Given the description of an element on the screen output the (x, y) to click on. 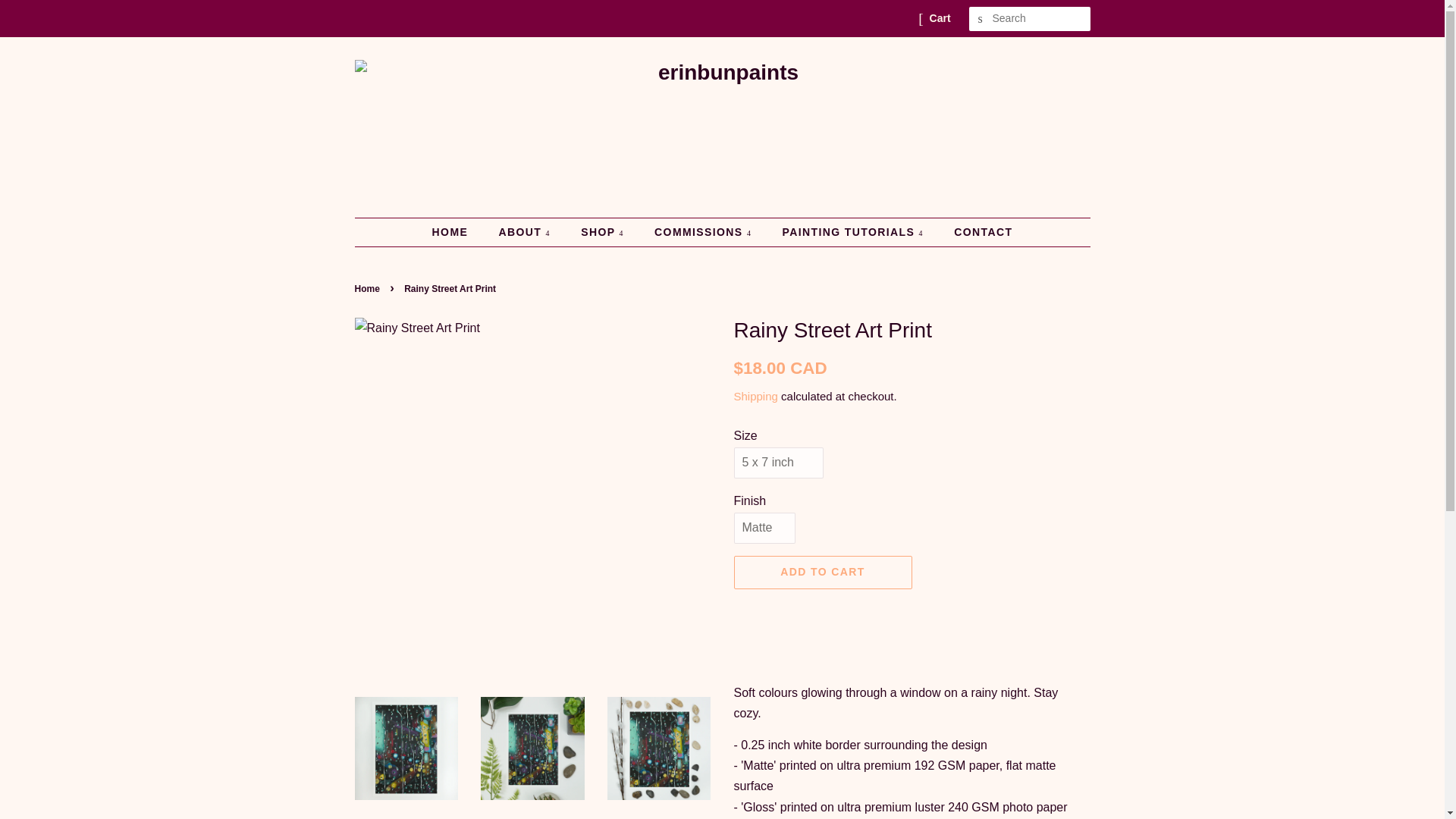
SEARCH (980, 18)
SHOP (604, 232)
Back to the frontpage (369, 288)
HOME (457, 232)
ABOUT (525, 232)
COMMISSIONS (705, 232)
Cart (940, 18)
